Given the description of an element on the screen output the (x, y) to click on. 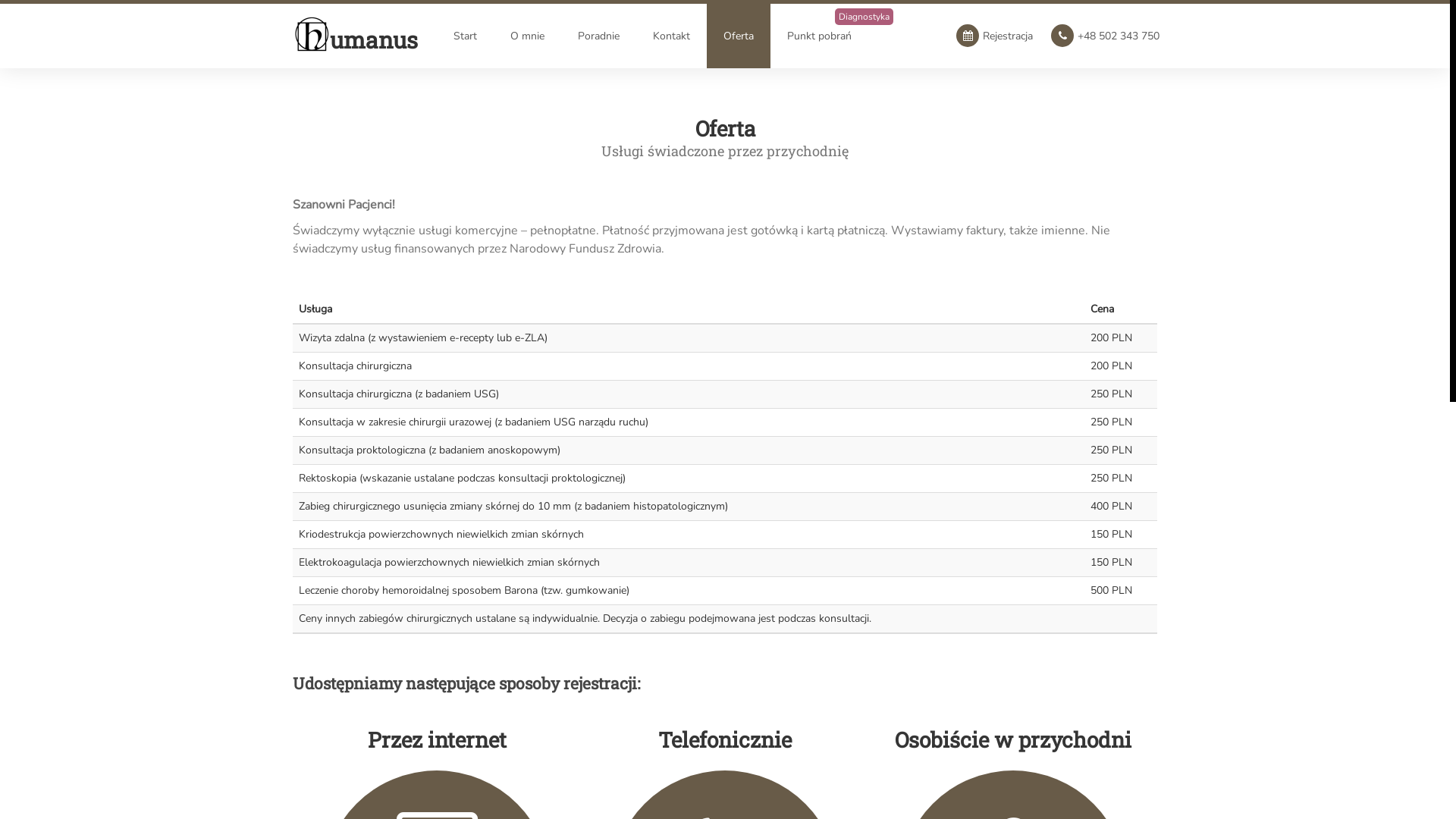
Oferta Element type: text (738, 35)
Humanus Element type: text (311, 22)
Rejestracja Element type: text (994, 35)
Kontakt Element type: text (671, 35)
Poradnie Element type: text (598, 35)
O mnie Element type: text (527, 35)
Start Element type: text (464, 35)
+48 502 343 750 Element type: text (1104, 35)
